Given the description of an element on the screen output the (x, y) to click on. 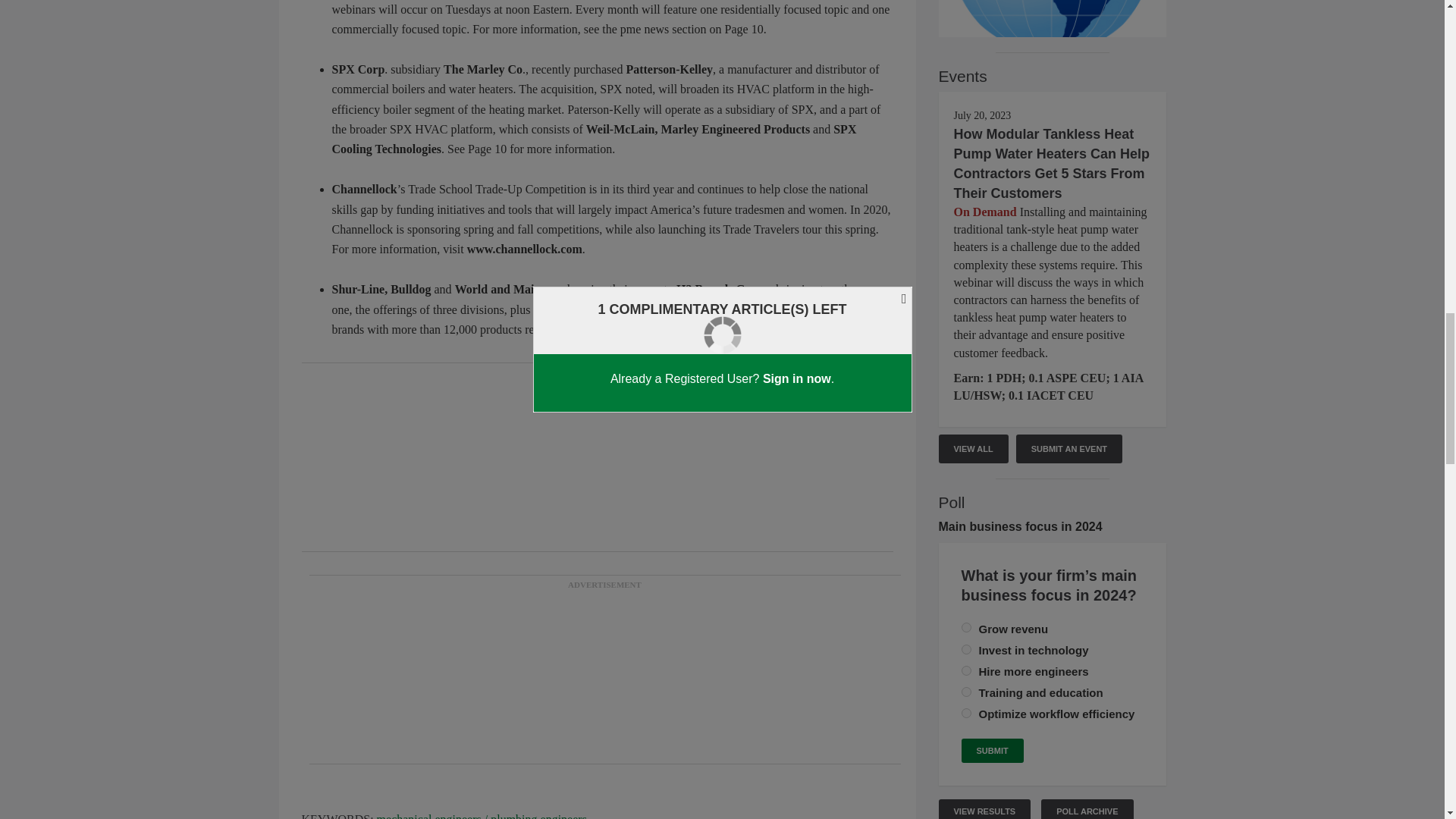
Submit (991, 750)
326 (965, 670)
328 (965, 691)
324 (965, 627)
327 (965, 713)
325 (965, 649)
